Given the description of an element on the screen output the (x, y) to click on. 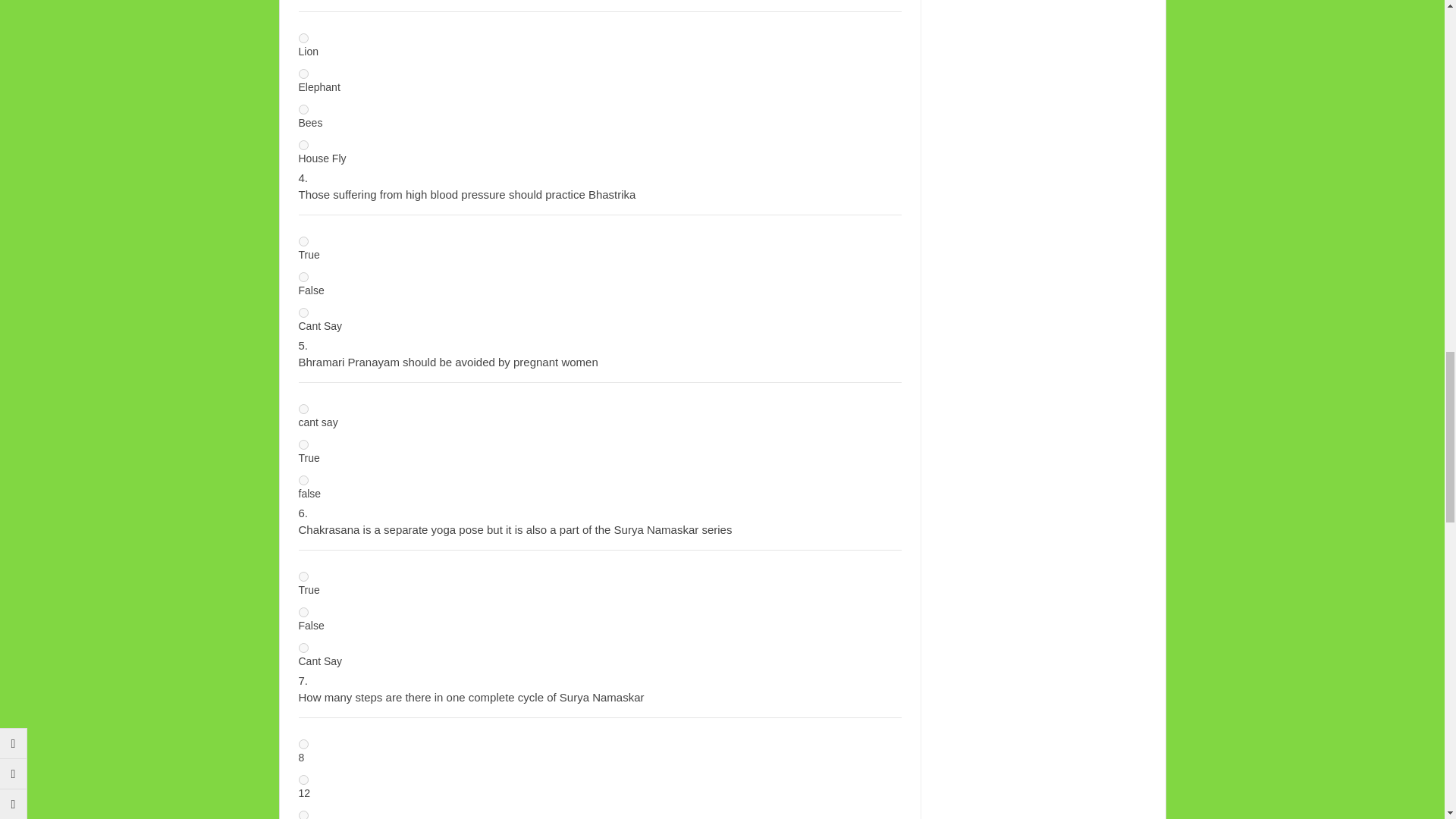
1 (303, 612)
0 (303, 576)
0 (303, 38)
1 (303, 276)
3 (303, 144)
0 (303, 409)
2 (303, 312)
2 (303, 109)
1 (303, 73)
0 (303, 241)
